Given the description of an element on the screen output the (x, y) to click on. 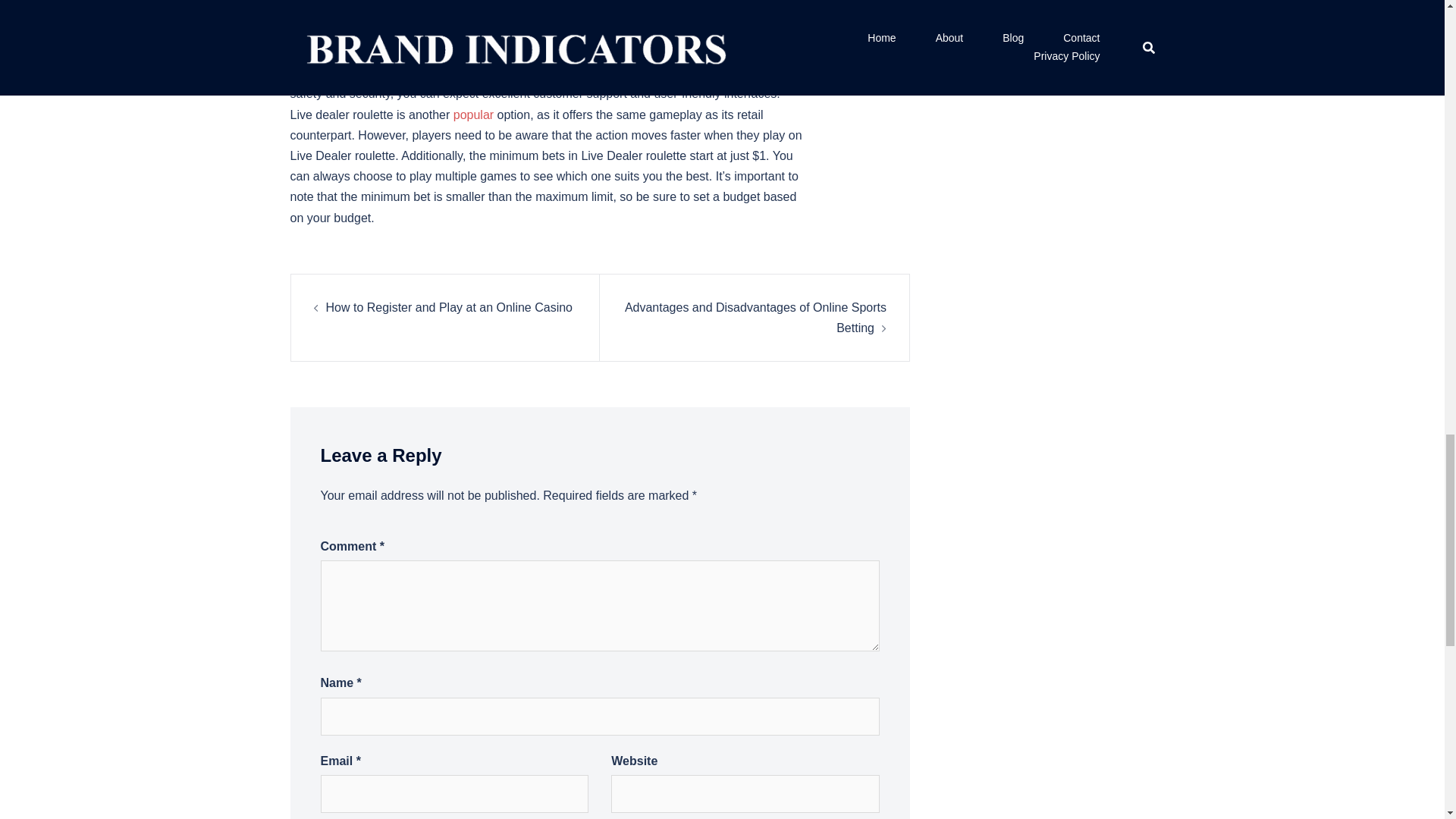
Advantages and Disadvantages of Online Sports Betting (755, 317)
How to Register and Play at an Online Casino (449, 307)
popular (472, 114)
